Given the description of an element on the screen output the (x, y) to click on. 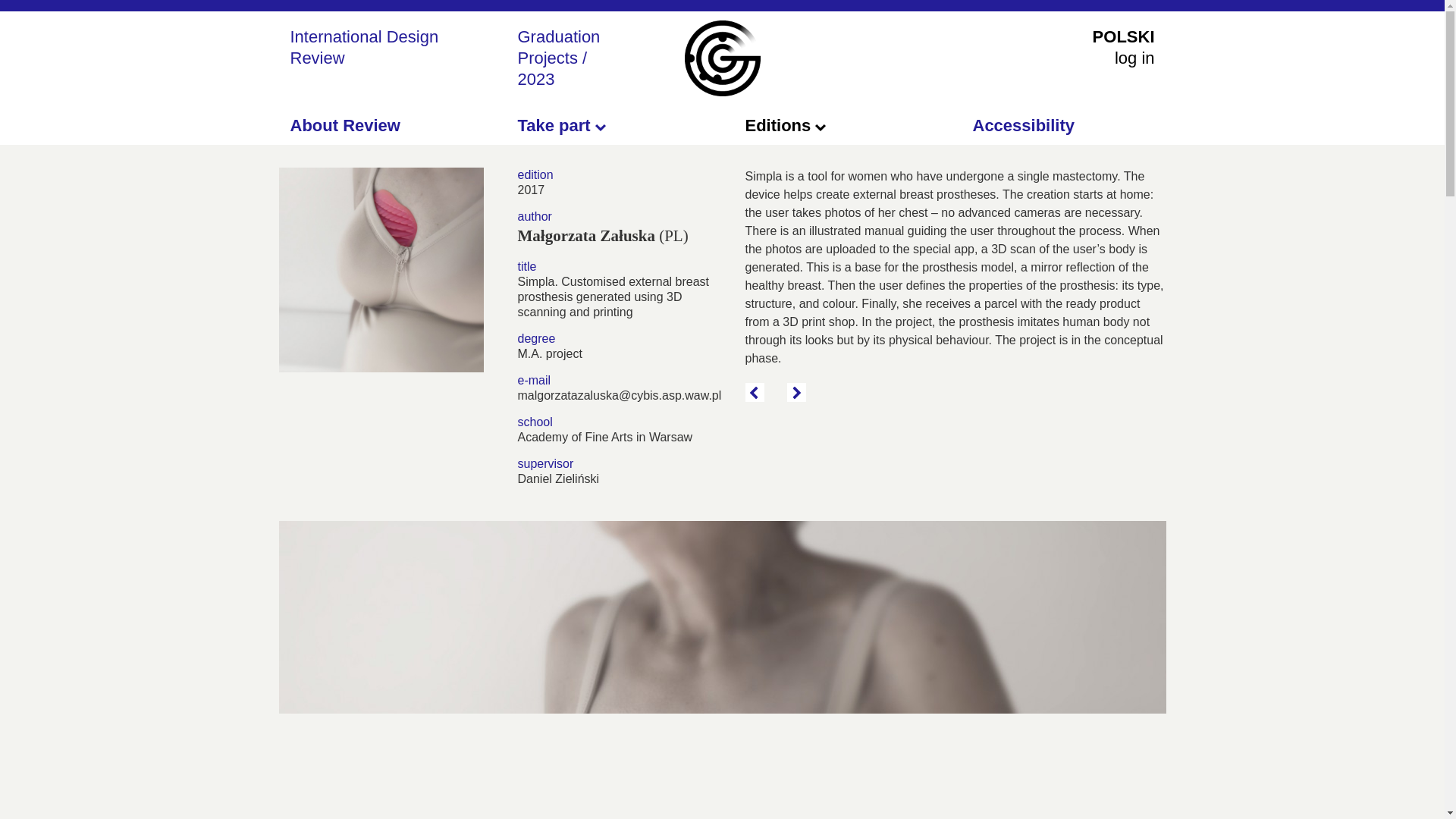
Take part (560, 125)
Editions (784, 125)
log in (1134, 57)
About Review (343, 125)
International Design Review (363, 47)
POLSKI (1123, 36)
